Given the description of an element on the screen output the (x, y) to click on. 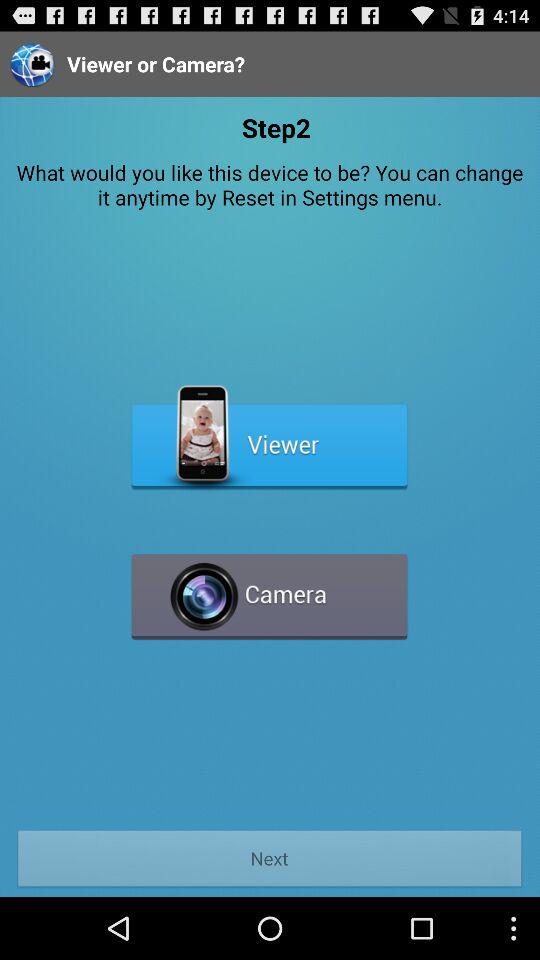
access camera (269, 588)
